Given the description of an element on the screen output the (x, y) to click on. 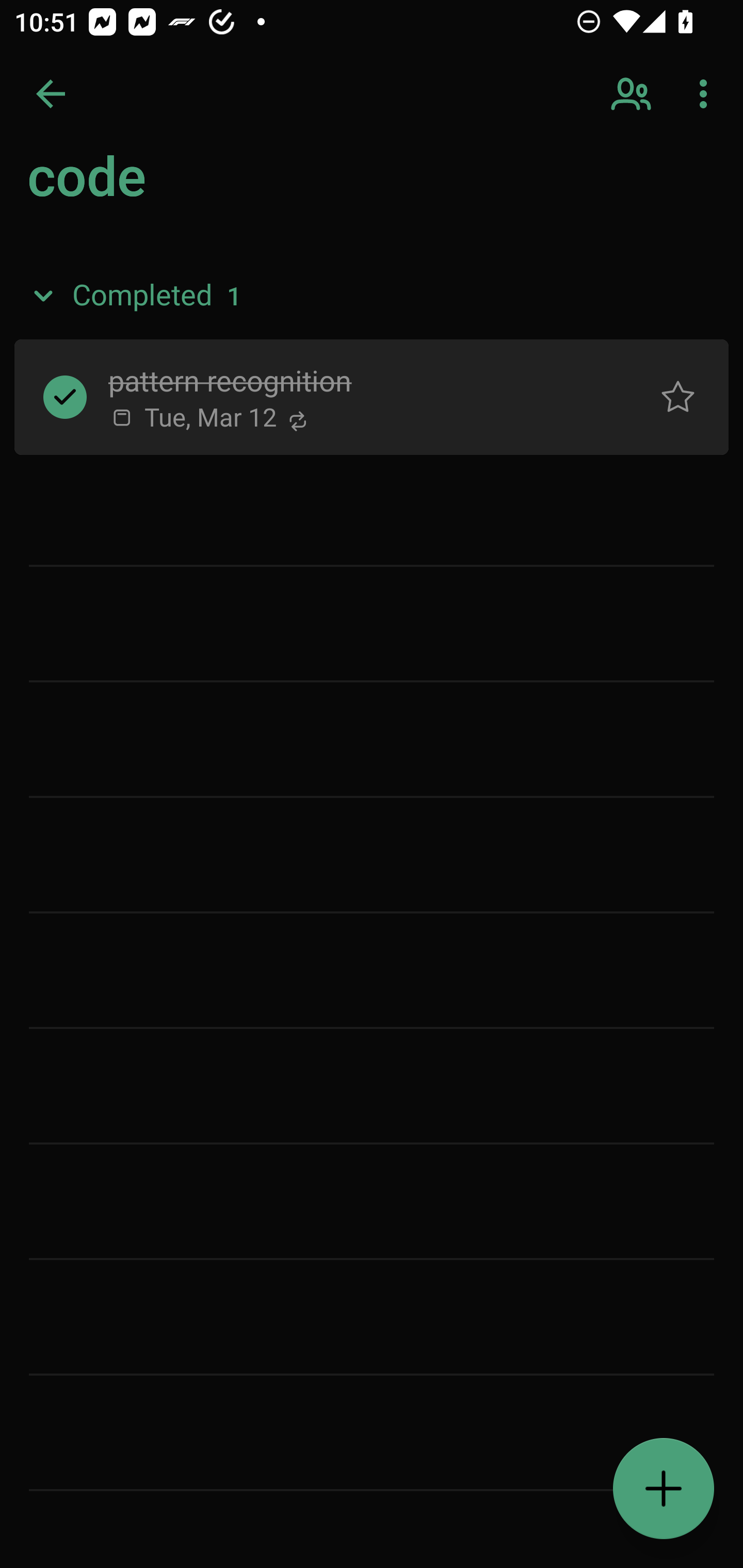
Back (50, 93)
Sharing options (632, 93)
More options (706, 93)
My Day, 0 tasks (182, 187)
Completed, 1 item, Expanded Completed 1 (371, 295)
Completed task pattern recognition, Button (64, 397)
Normal task pattern recognition, Button (677, 397)
Add a task (663, 1488)
